Given the description of an element on the screen output the (x, y) to click on. 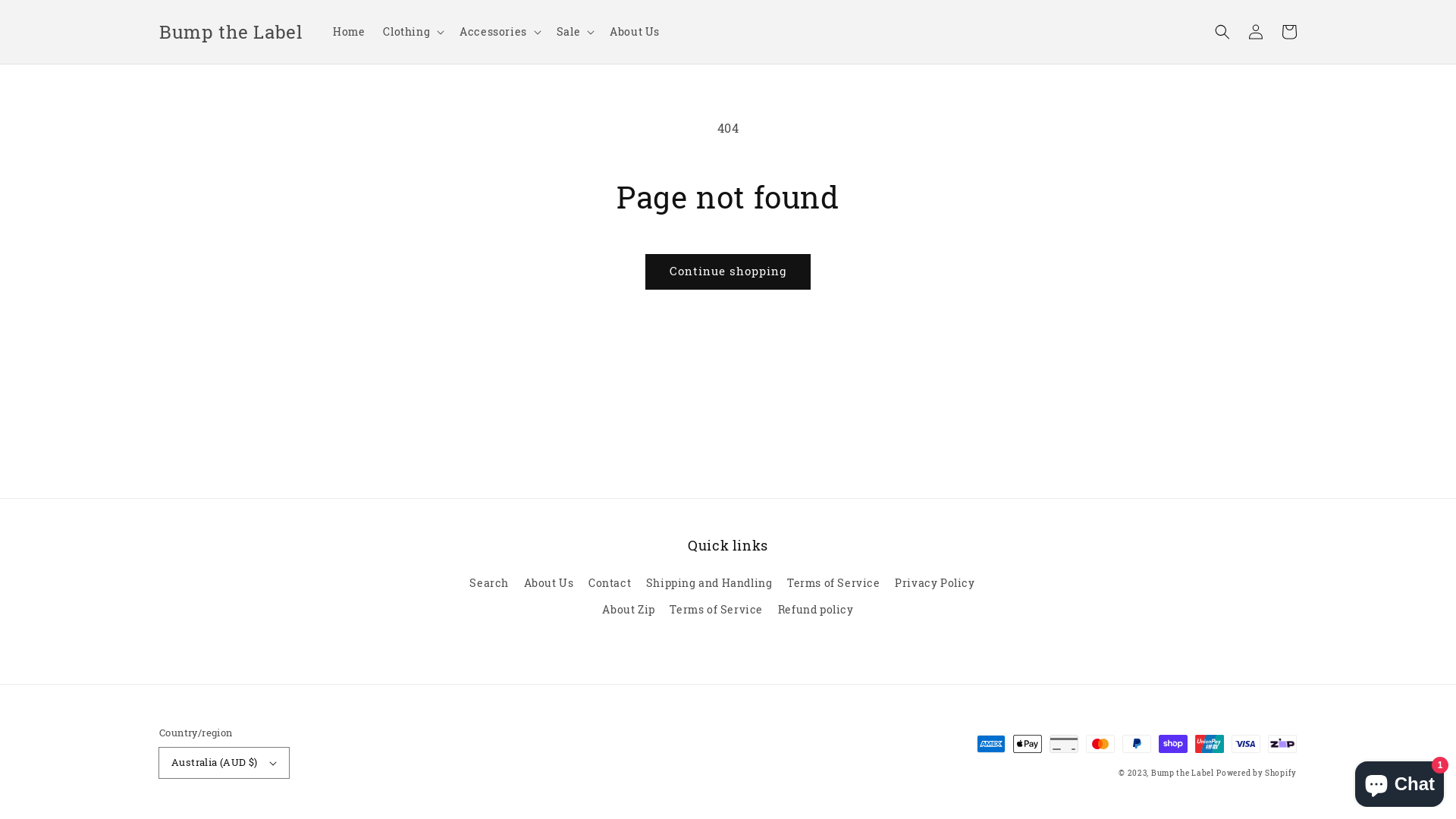
Contact Element type: text (609, 582)
About Us Element type: text (634, 31)
Terms of Service Element type: text (715, 609)
Bump the Label Element type: text (1182, 773)
Refund policy Element type: text (815, 609)
Bump the Label Element type: text (230, 31)
About Zip Element type: text (628, 609)
Continue shopping Element type: text (727, 271)
Privacy Policy Element type: text (934, 582)
Search Element type: text (488, 584)
Australia (AUD $) Element type: text (223, 762)
Shipping and Handling Element type: text (709, 582)
Powered by Shopify Element type: text (1256, 773)
Terms of Service Element type: text (833, 582)
Shopify online store chat Element type: hover (1399, 780)
Home Element type: text (348, 31)
About Us Element type: text (549, 582)
Log in Element type: text (1255, 31)
Cart Element type: text (1288, 31)
